Given the description of an element on the screen output the (x, y) to click on. 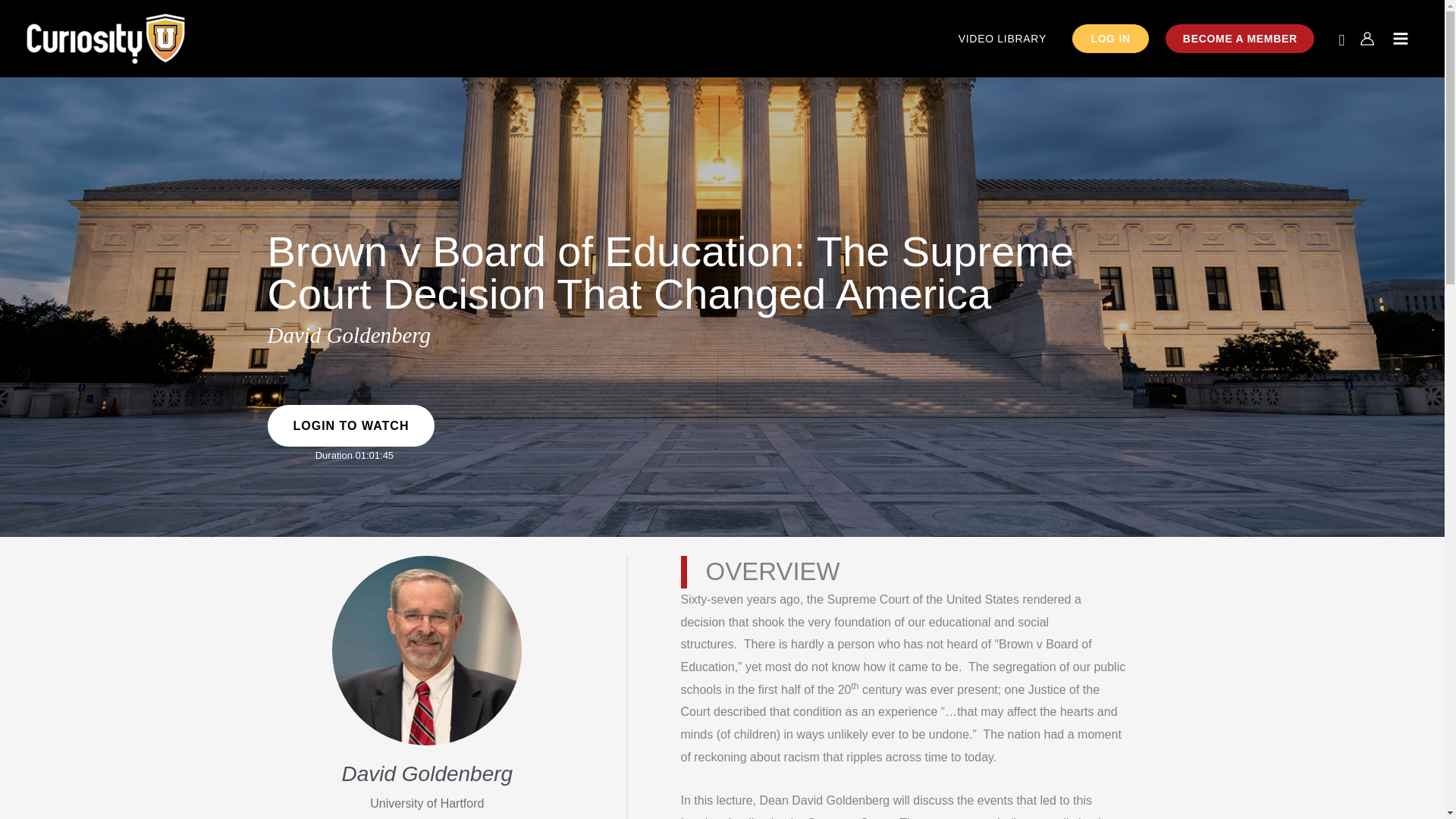
VIDEO LIBRARY (1002, 38)
David Goldenberg (426, 773)
LOGIN TO WATCH (349, 425)
LOG IN (1110, 38)
BECOME A MEMBER (1239, 38)
David Goldenberg (348, 334)
